Given the description of an element on the screen output the (x, y) to click on. 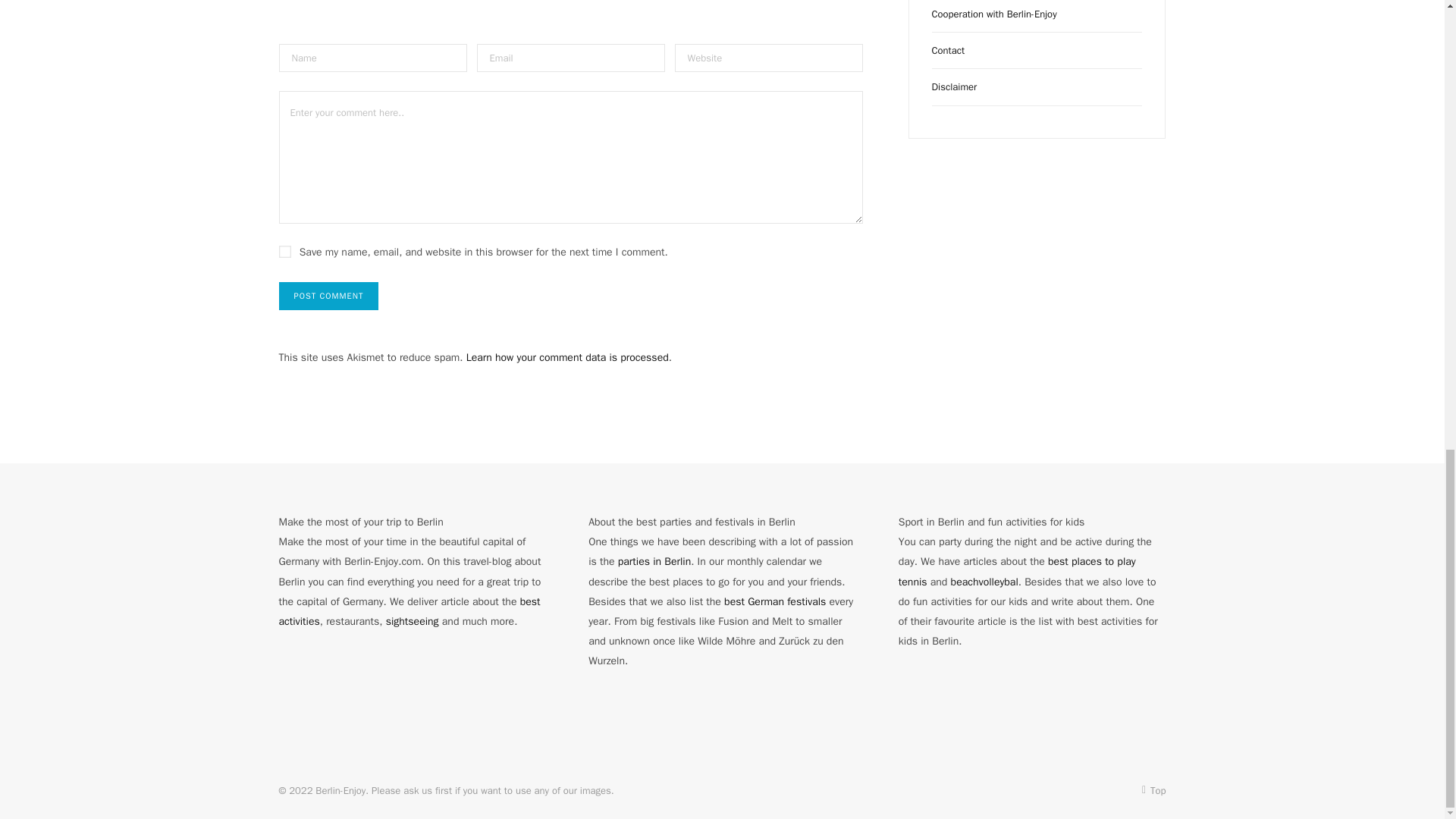
Post Comment (328, 295)
Learn how your comment data is processed (566, 357)
yes (285, 251)
Post Comment (328, 295)
